Given the description of an element on the screen output the (x, y) to click on. 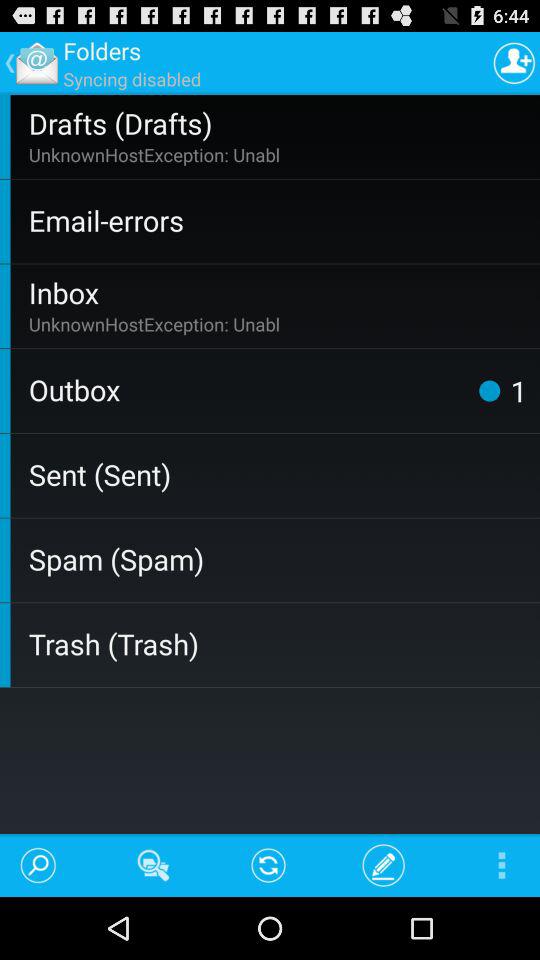
open the item above the drafts (drafts) item (514, 62)
